Given the description of an element on the screen output the (x, y) to click on. 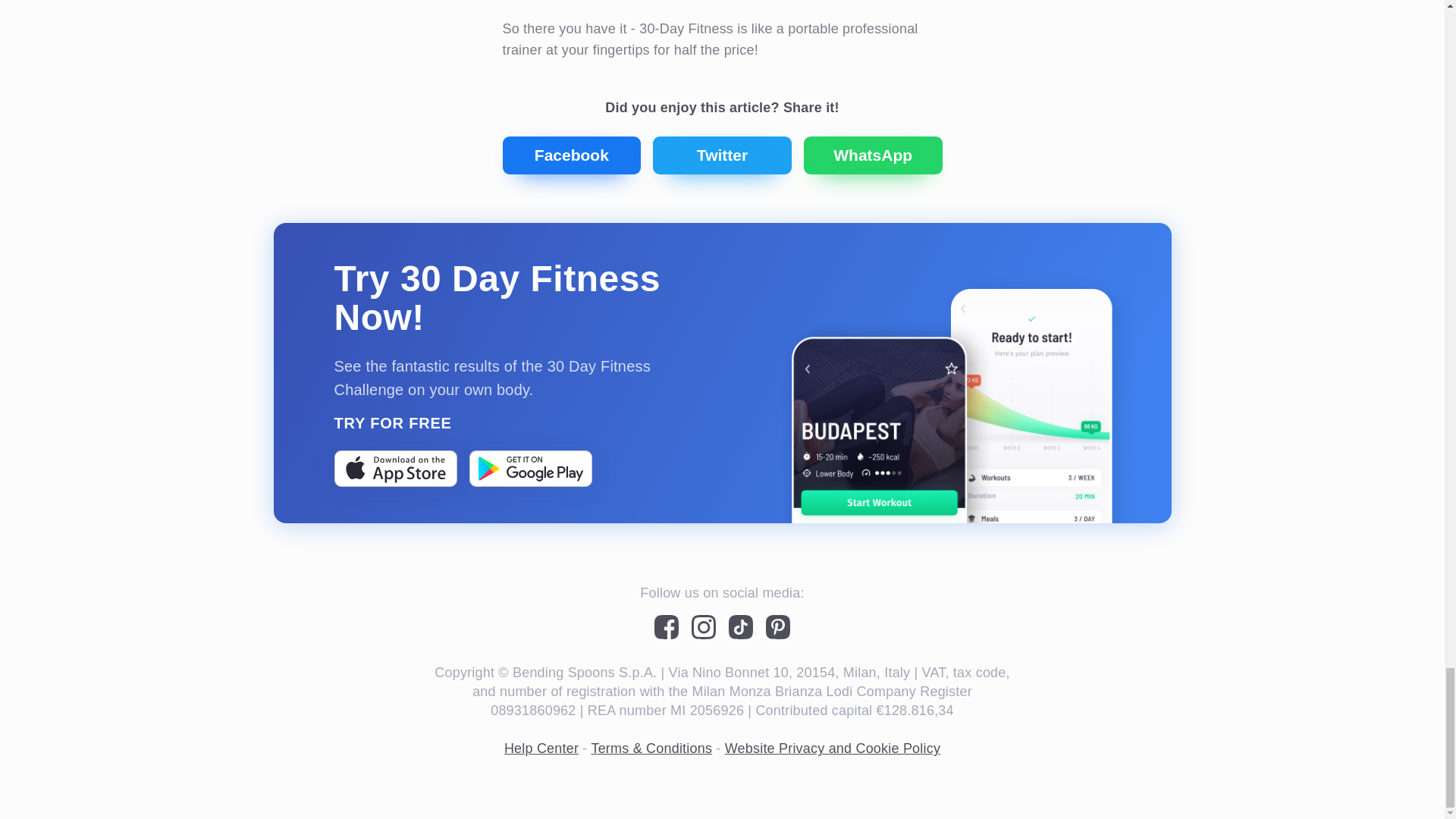
Twitter (722, 155)
Website Privacy and Cookie Policy (832, 748)
WhatsApp (872, 155)
Help Center (540, 748)
Facebook (571, 155)
